Given the description of an element on the screen output the (x, y) to click on. 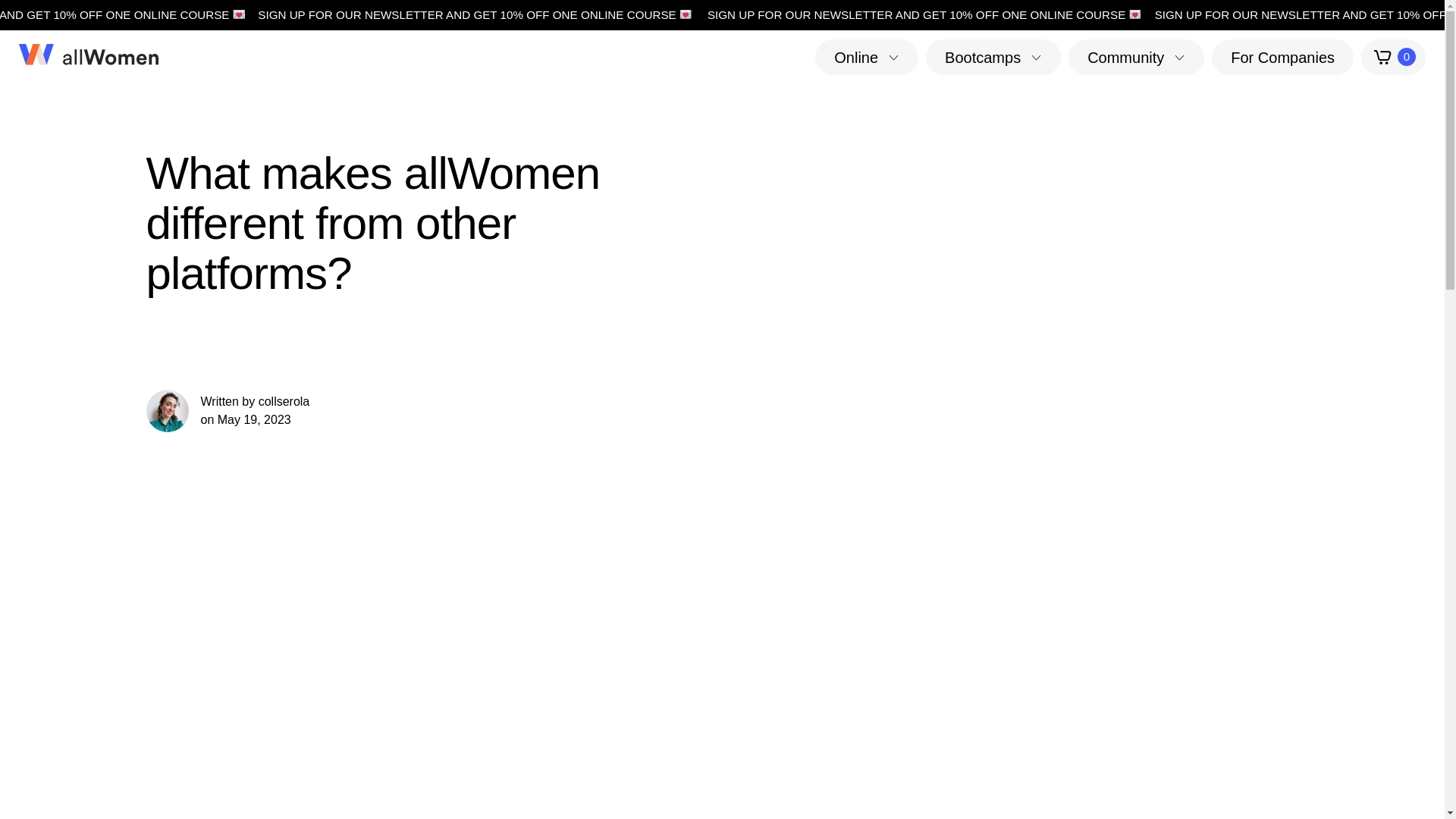
collserola (284, 400)
0 (1393, 57)
Online (866, 56)
For Companies (1282, 56)
Online (866, 56)
Community (1136, 56)
Bootcamps (993, 56)
Bootcamps (993, 56)
